Given the description of an element on the screen output the (x, y) to click on. 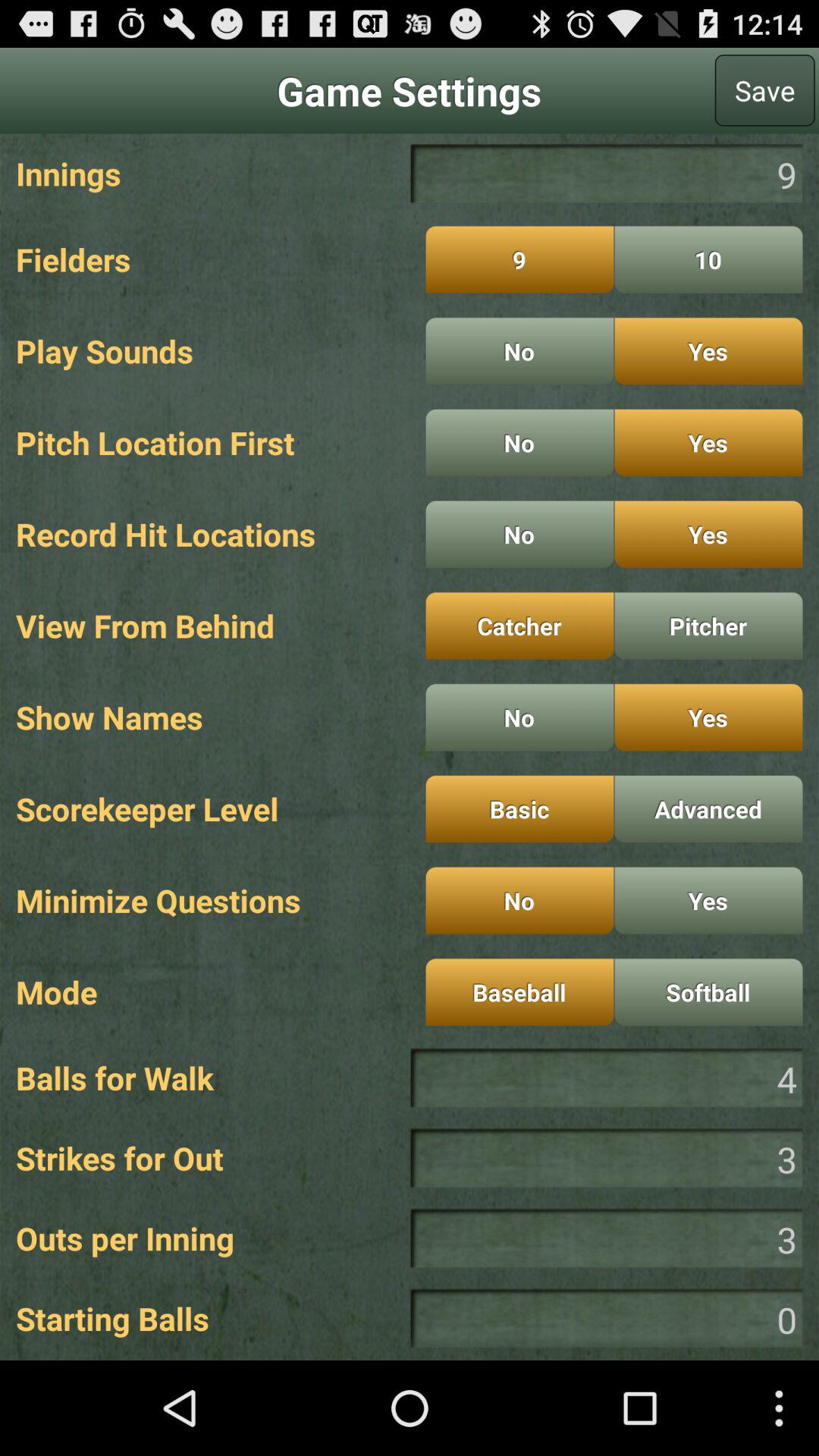
select the no button which is next to the the record hit locations text (519, 533)
click on the 4 number button (606, 1078)
select the button which is next to the basic button (708, 808)
click on the button which is next to the mode (519, 992)
